Given the description of an element on the screen output the (x, y) to click on. 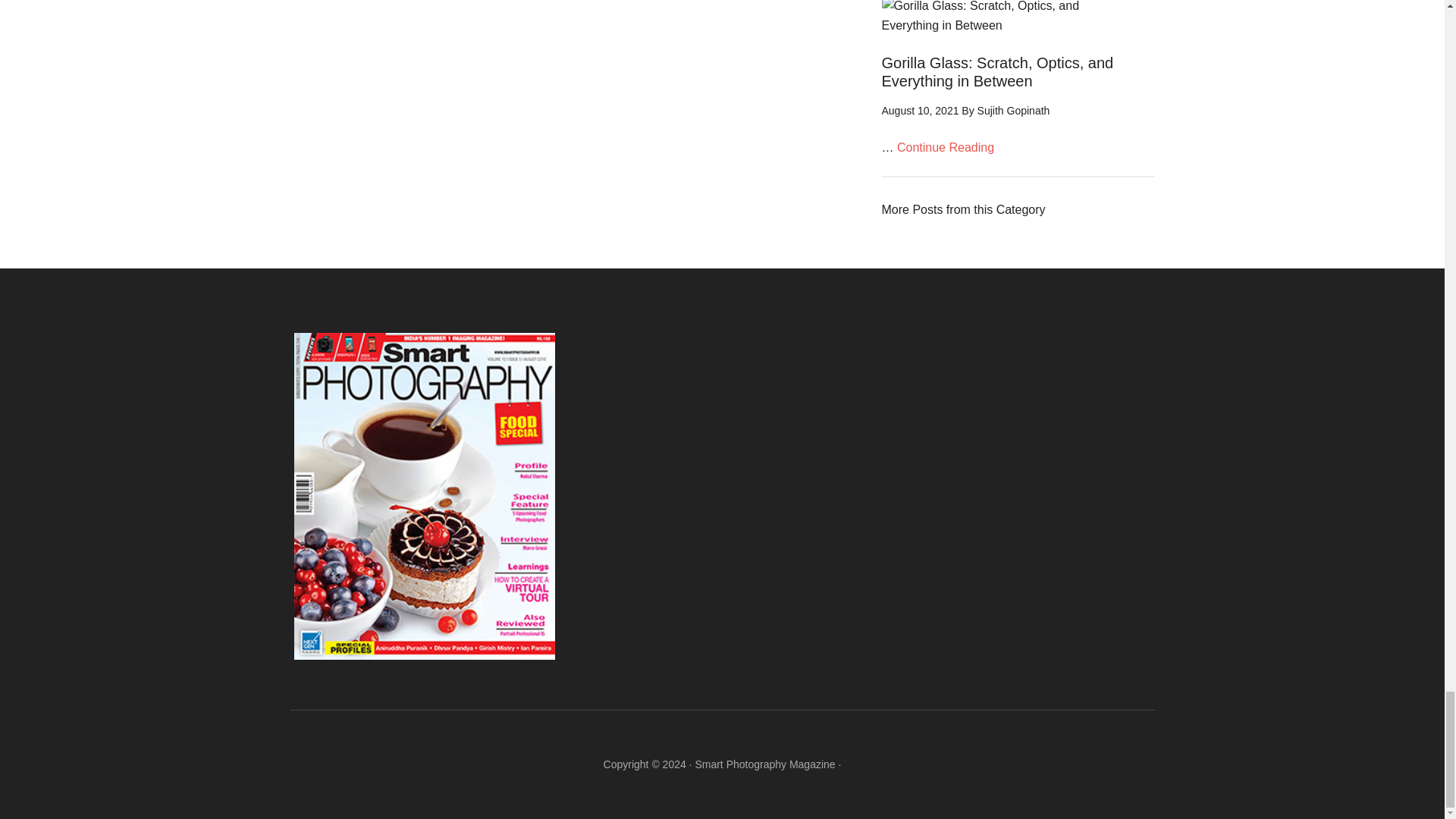
Specials (962, 209)
